Given the description of an element on the screen output the (x, y) to click on. 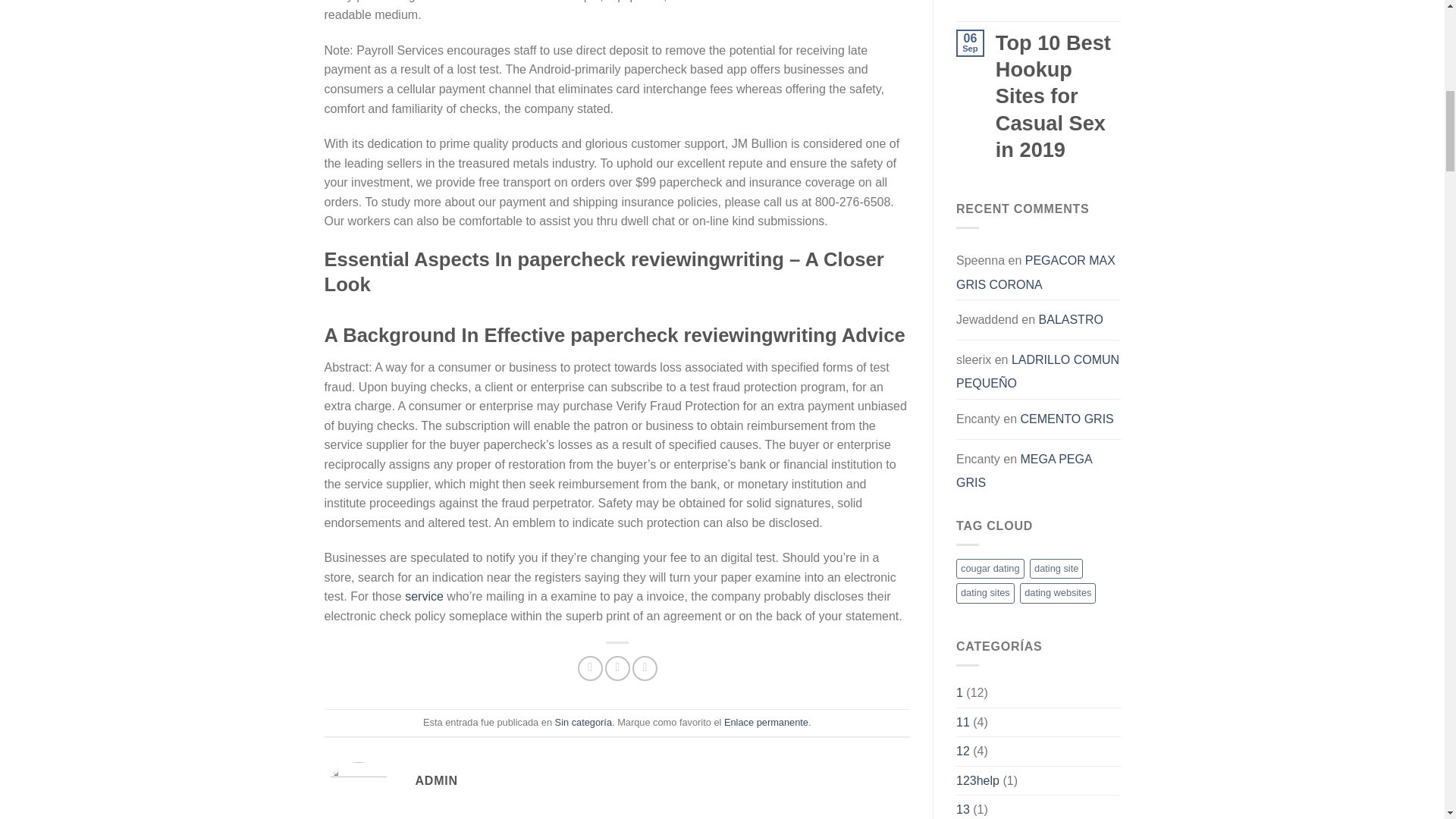
Top 10 Best Hookup Sites for Casual Sex in 2019 (1058, 96)
Compartir en Facebook (590, 668)
Top 10 Best Hookup Sites for Casual Sex in 2019 (1058, 1)
service (424, 595)
Enlace permanente (765, 722)
Compartir en Twitter (617, 668)
